Given the description of an element on the screen output the (x, y) to click on. 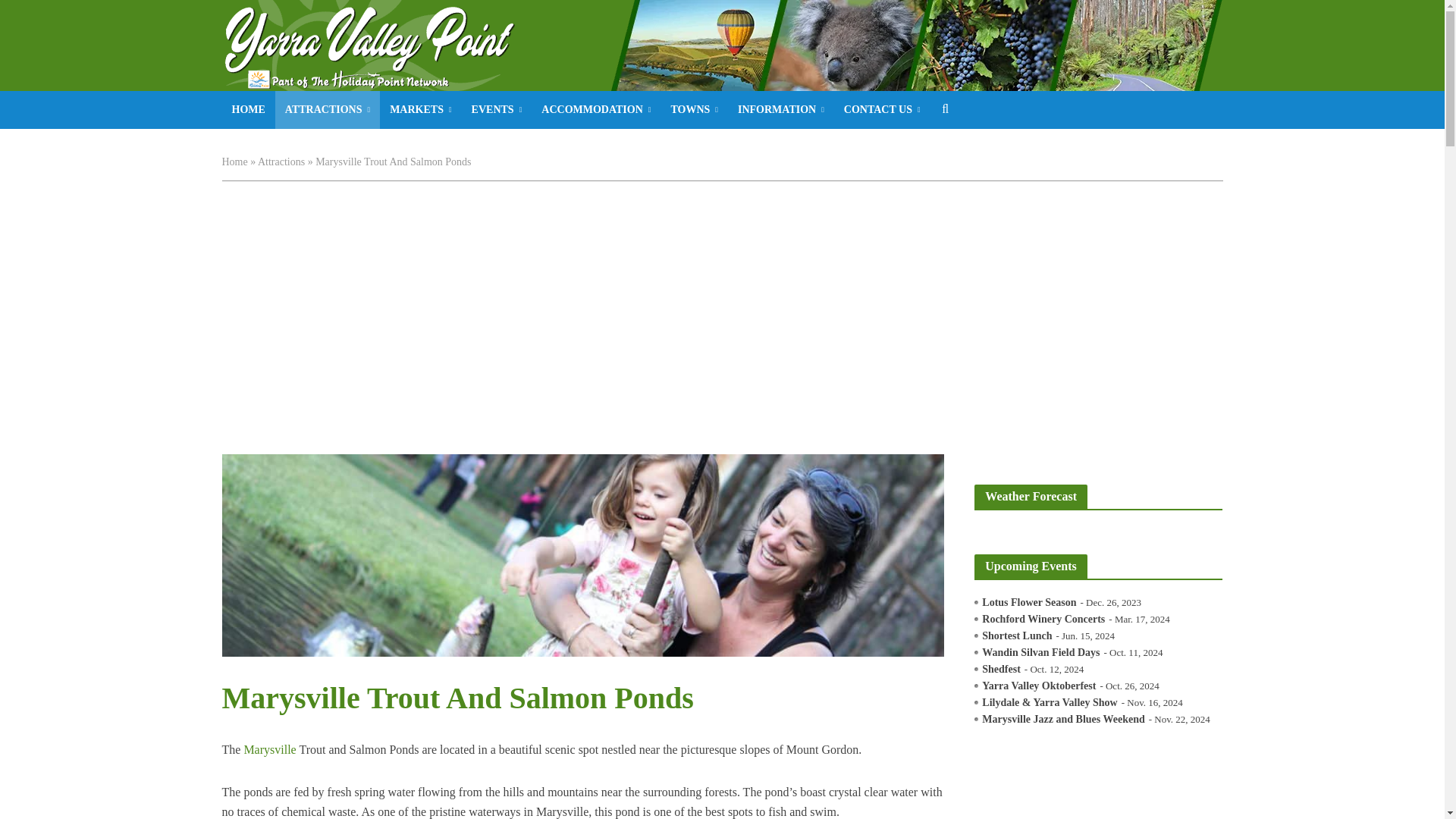
MARKETS (420, 109)
HOME (248, 109)
ATTRACTIONS (327, 109)
